Given the description of an element on the screen output the (x, y) to click on. 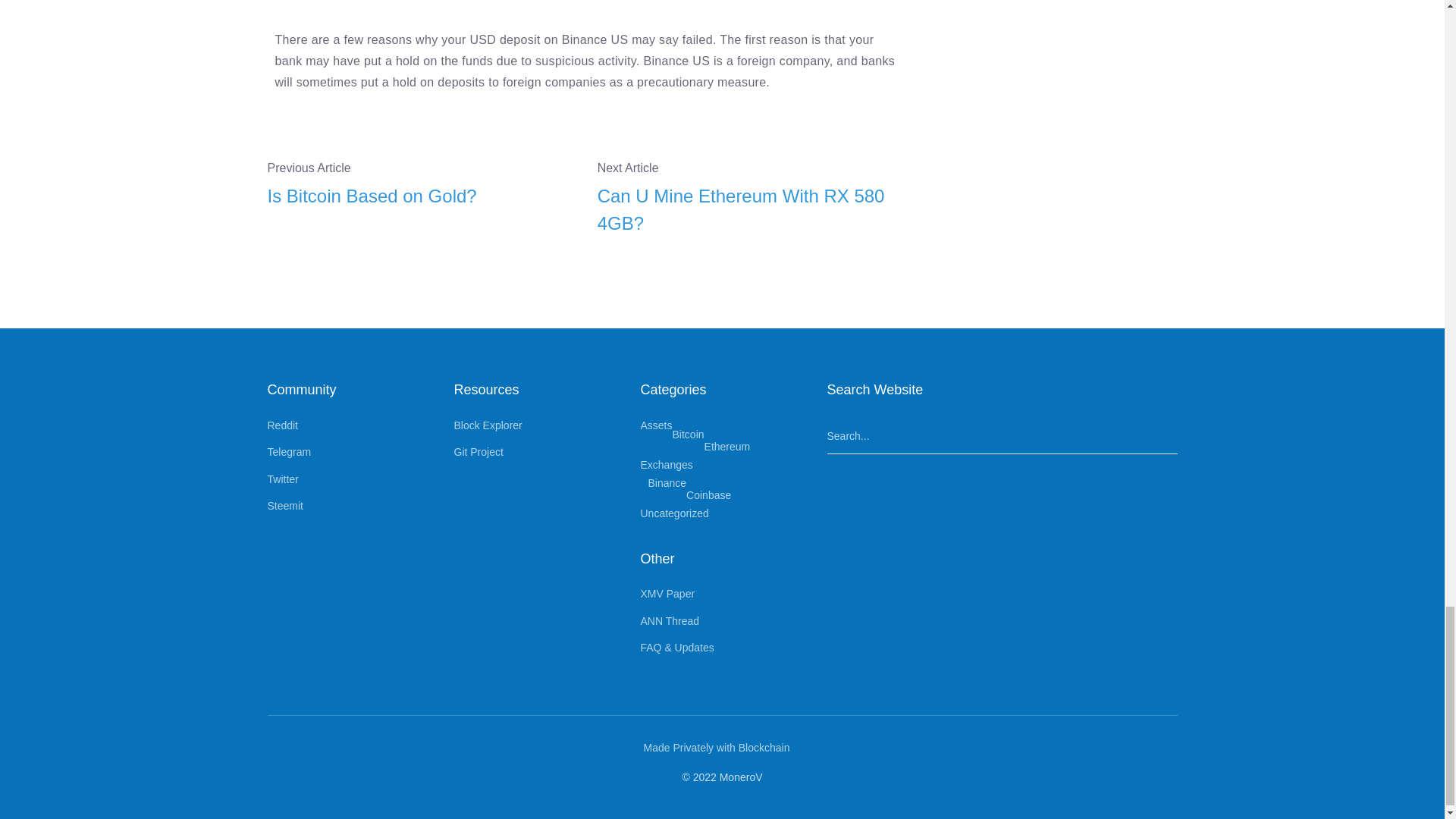
Search... (1001, 436)
Search... (1001, 436)
Can U Mine Ethereum With RX 580 4GB? (750, 209)
Is Bitcoin Based on Gold? (419, 195)
